Given the description of an element on the screen output the (x, y) to click on. 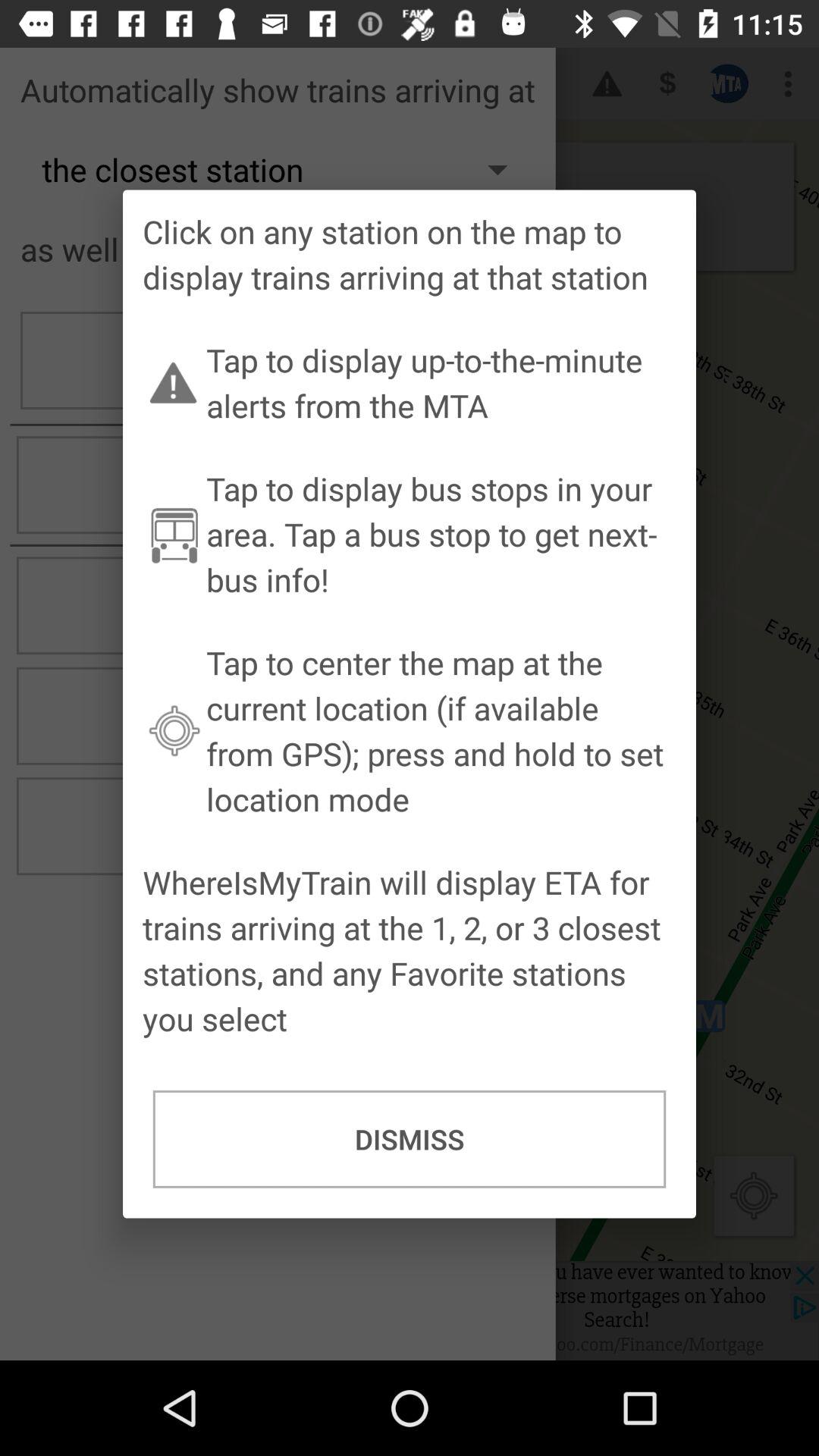
flip until the dismiss button (409, 1139)
